Given the description of an element on the screen output the (x, y) to click on. 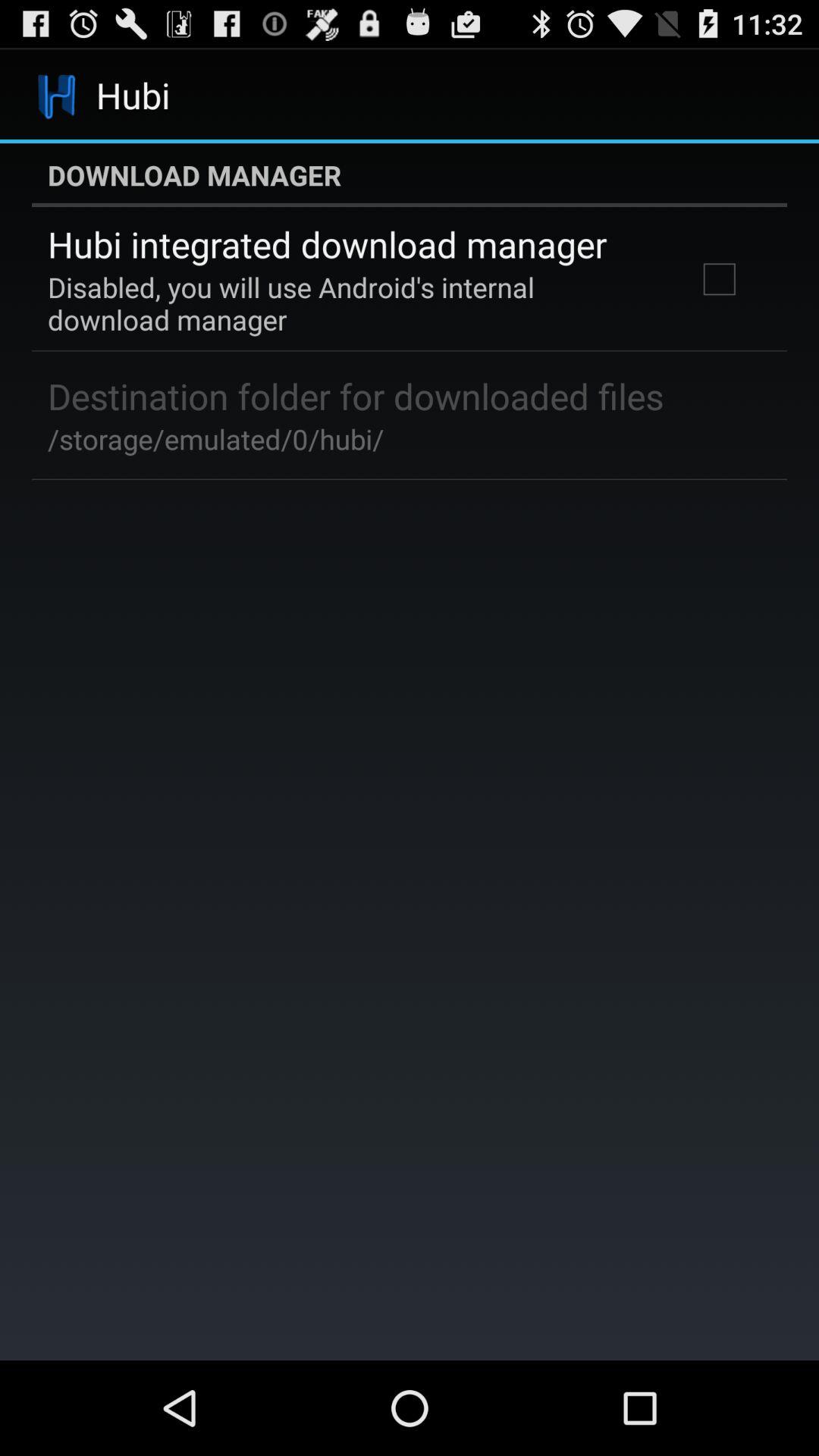
press the app below disabled you will item (355, 395)
